Given the description of an element on the screen output the (x, y) to click on. 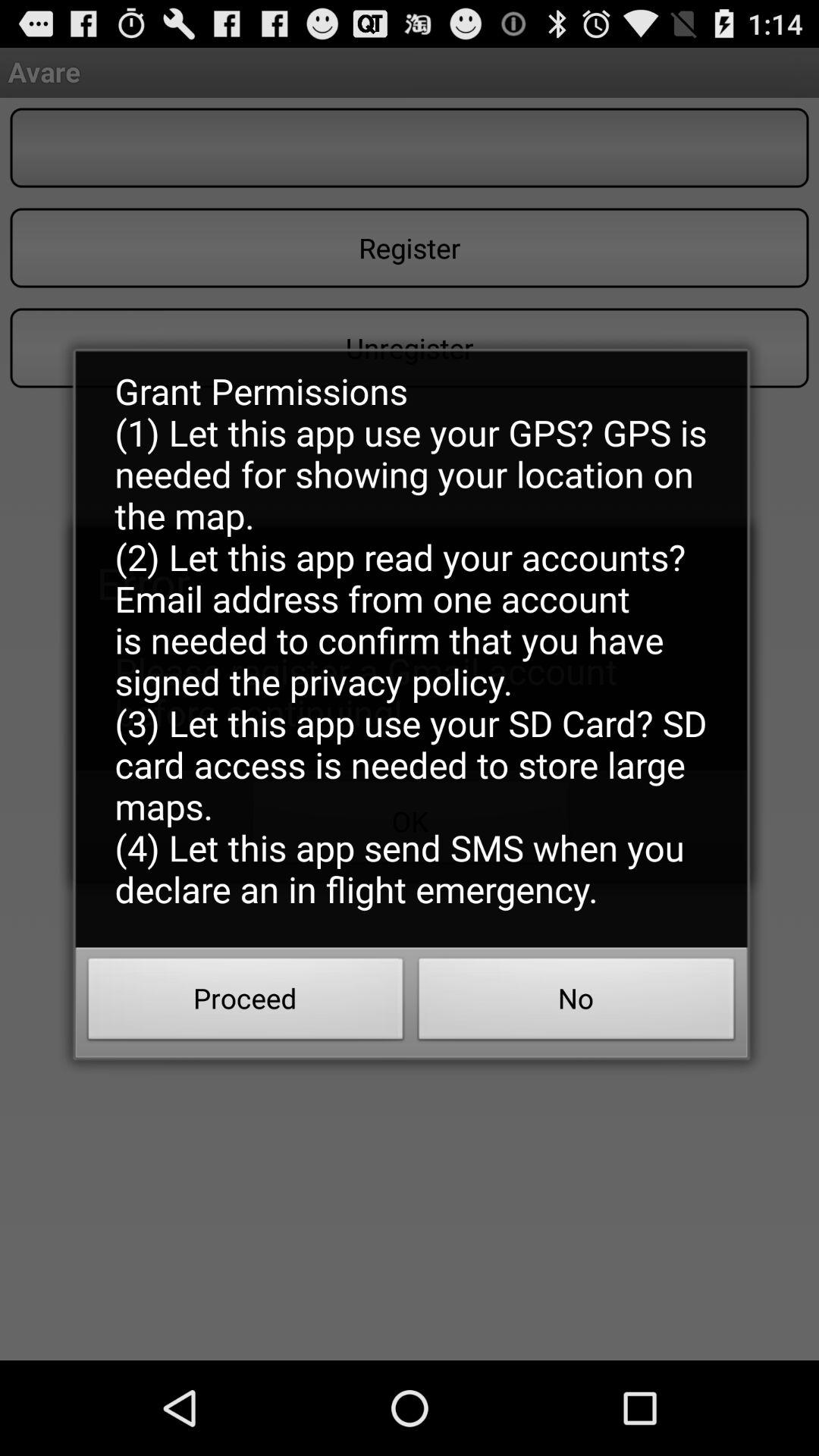
swipe to the no button (576, 1003)
